Given the description of an element on the screen output the (x, y) to click on. 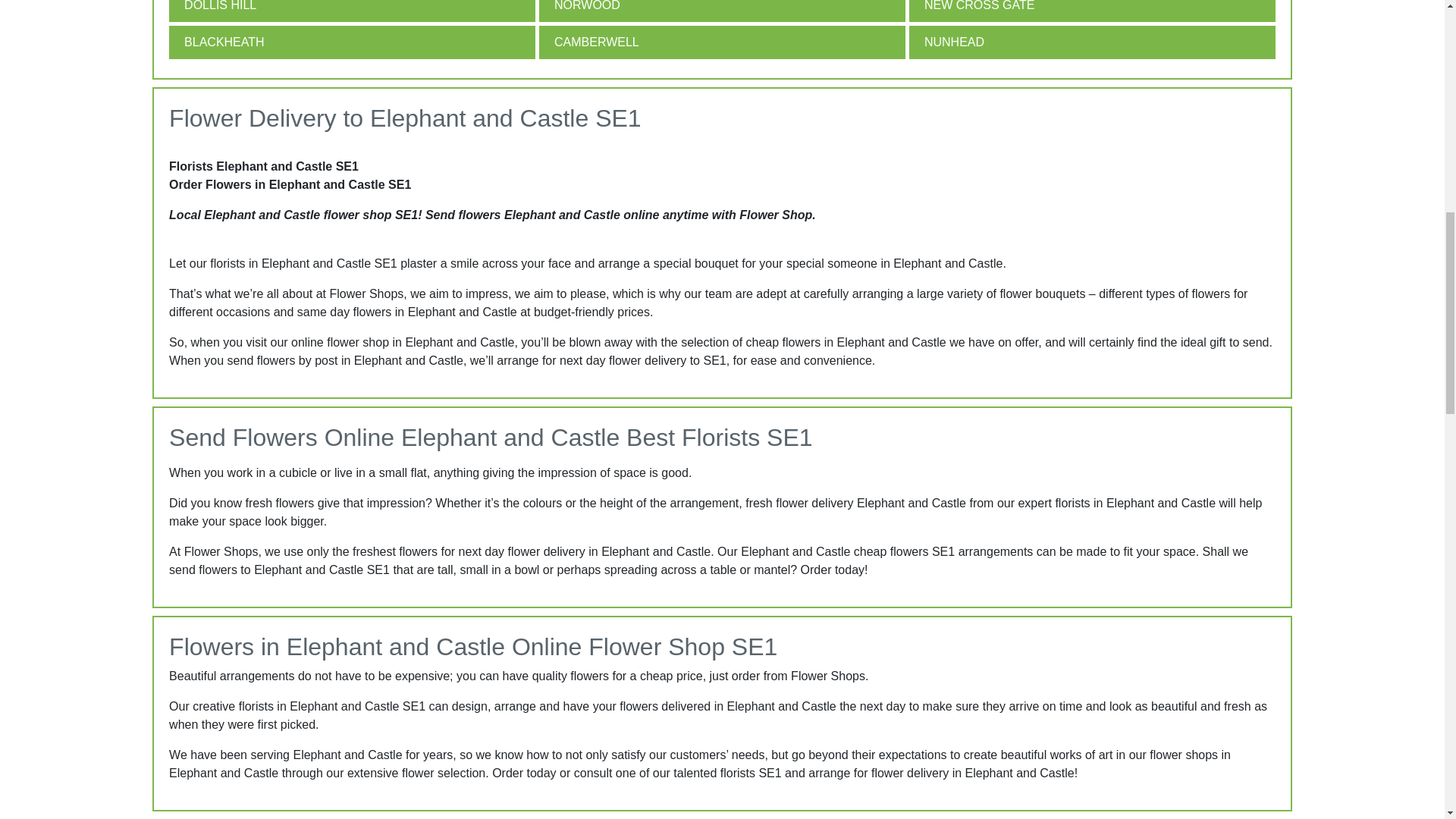
CAMBERWELL (721, 41)
NUNHEAD (1091, 41)
BLACKHEATH (351, 41)
NORWOOD (721, 11)
NEW CROSS GATE (1091, 11)
DOLLIS HILL (351, 11)
